Given the description of an element on the screen output the (x, y) to click on. 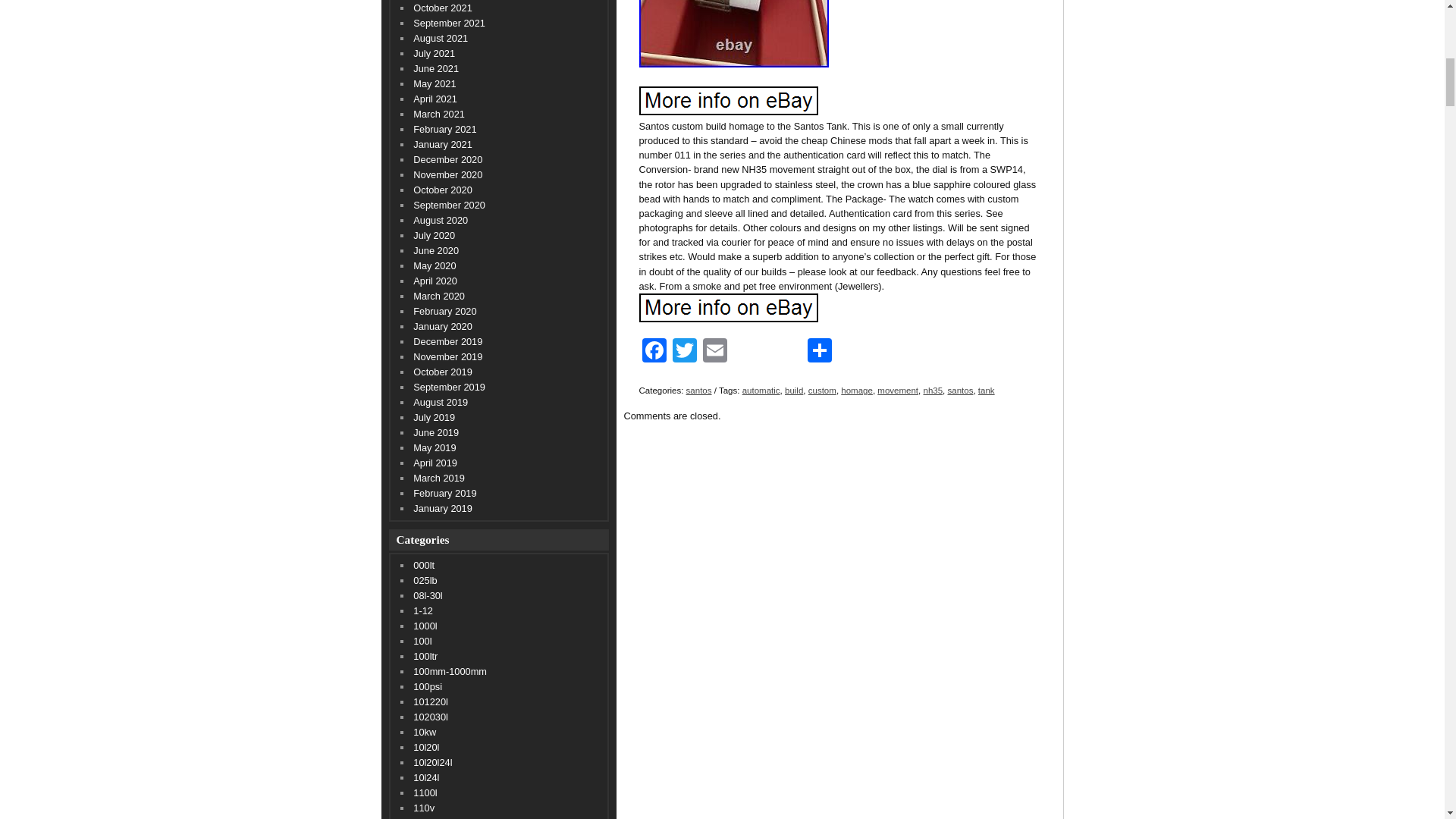
Twitter (683, 352)
Santos Automatic NH35 Movement Tank Homage Custom Build 33 (727, 100)
Santos Automatic NH35 Movement Tank Homage Custom Build 33 (727, 307)
Email (713, 352)
santos (698, 389)
Facebook (653, 352)
nh35 (932, 389)
Share (818, 352)
Facebook (653, 352)
movement (897, 389)
homage (856, 389)
automatic (761, 389)
build (793, 389)
santos (960, 389)
Twitter (683, 352)
